Given the description of an element on the screen output the (x, y) to click on. 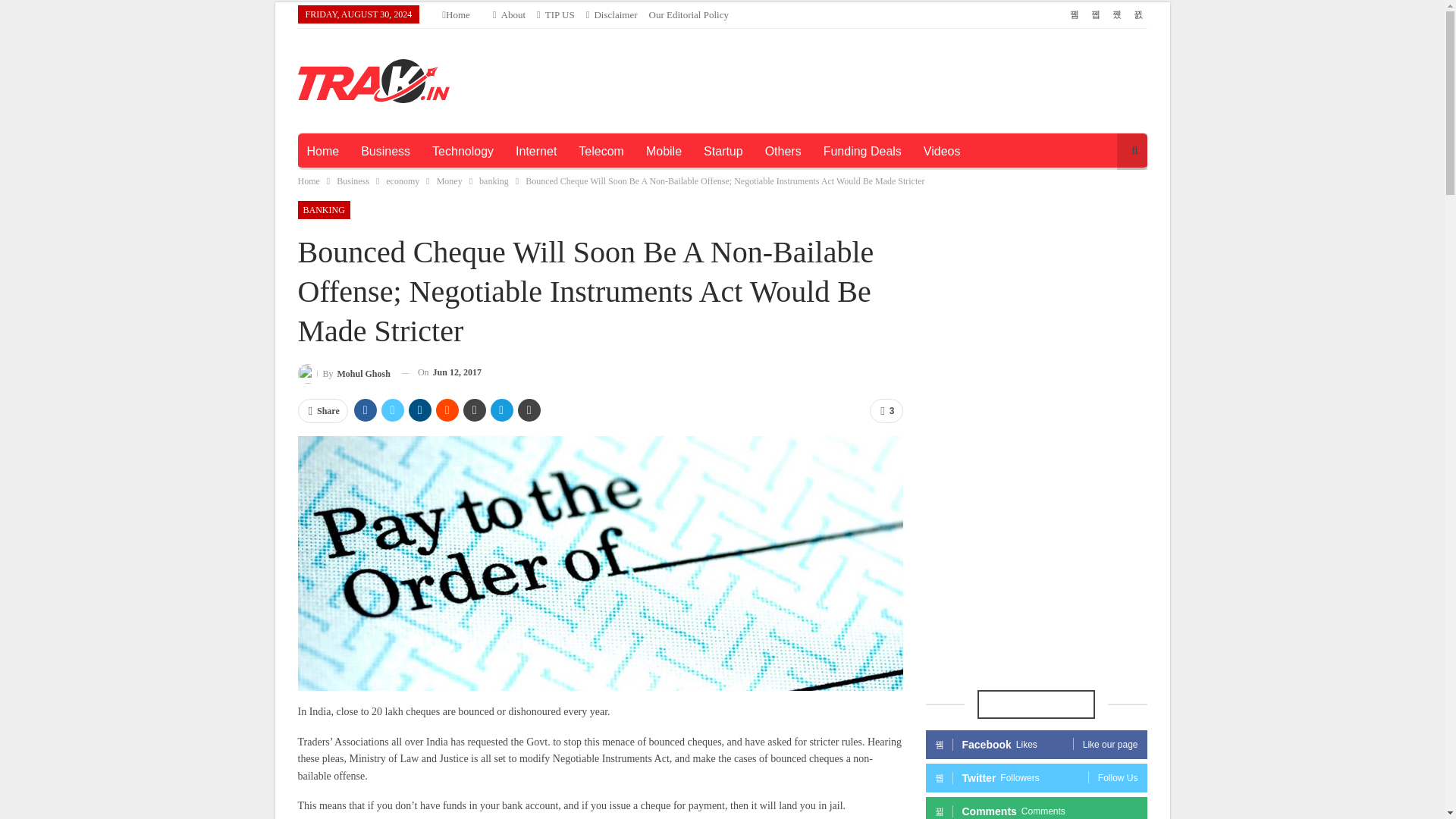
Internet (536, 151)
Funding Deals (862, 151)
By Mohul Ghosh (343, 372)
About (509, 14)
economy (402, 180)
Money (449, 180)
Telecom (601, 151)
BANKING (323, 209)
Technology (462, 151)
